Given the description of an element on the screen output the (x, y) to click on. 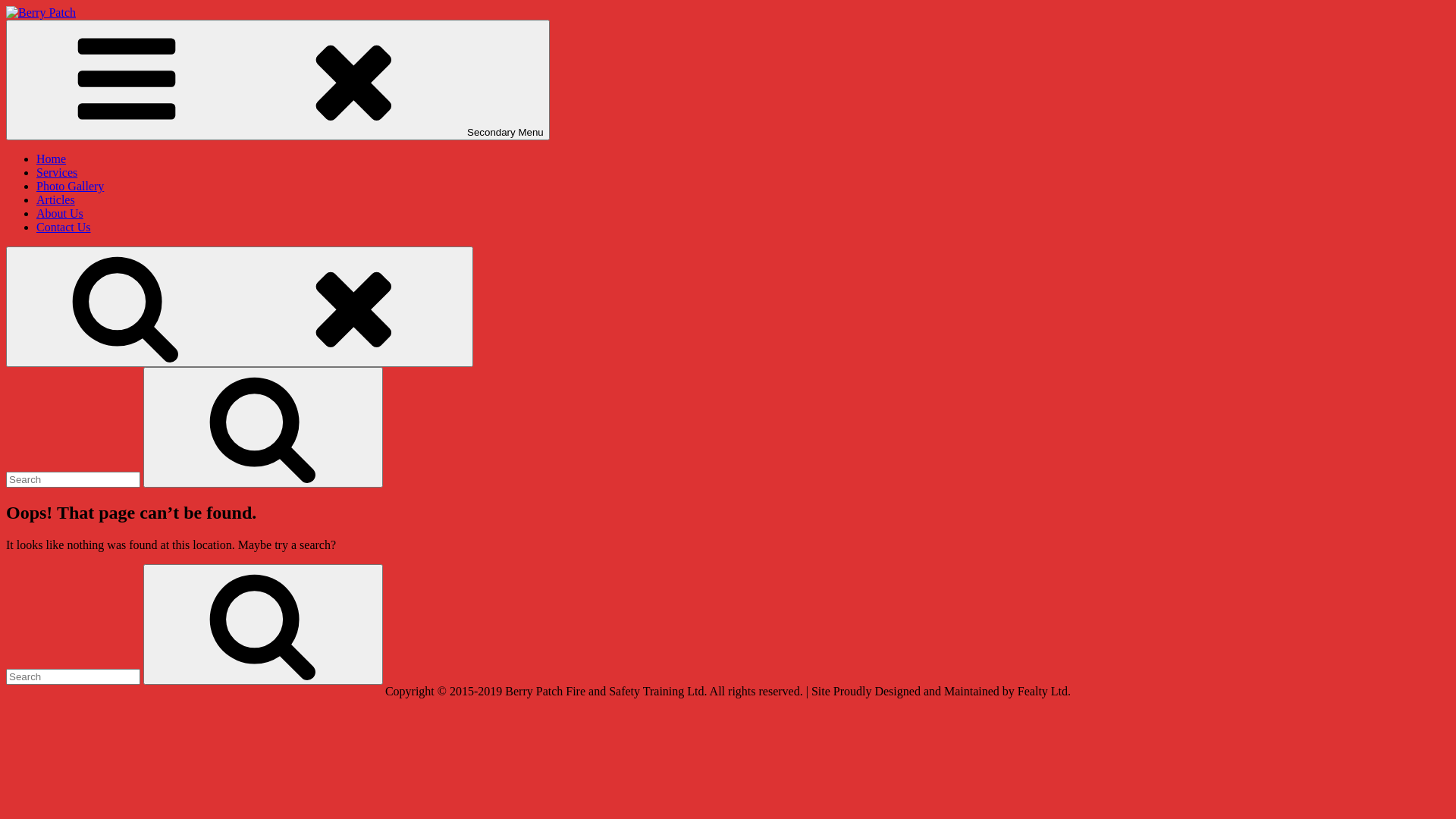
Articles Element type: text (55, 199)
About Us Element type: text (59, 213)
Home Element type: text (50, 158)
Search Element type: text (262, 427)
Berry Patch Element type: text (34, 37)
Services Element type: text (56, 172)
Search Element type: text (239, 306)
Secondary Menu Element type: text (277, 79)
Skip to content Element type: text (5, 5)
Search Element type: text (262, 624)
Contact Us Element type: text (63, 226)
Photo Gallery Element type: text (69, 185)
